Given the description of an element on the screen output the (x, y) to click on. 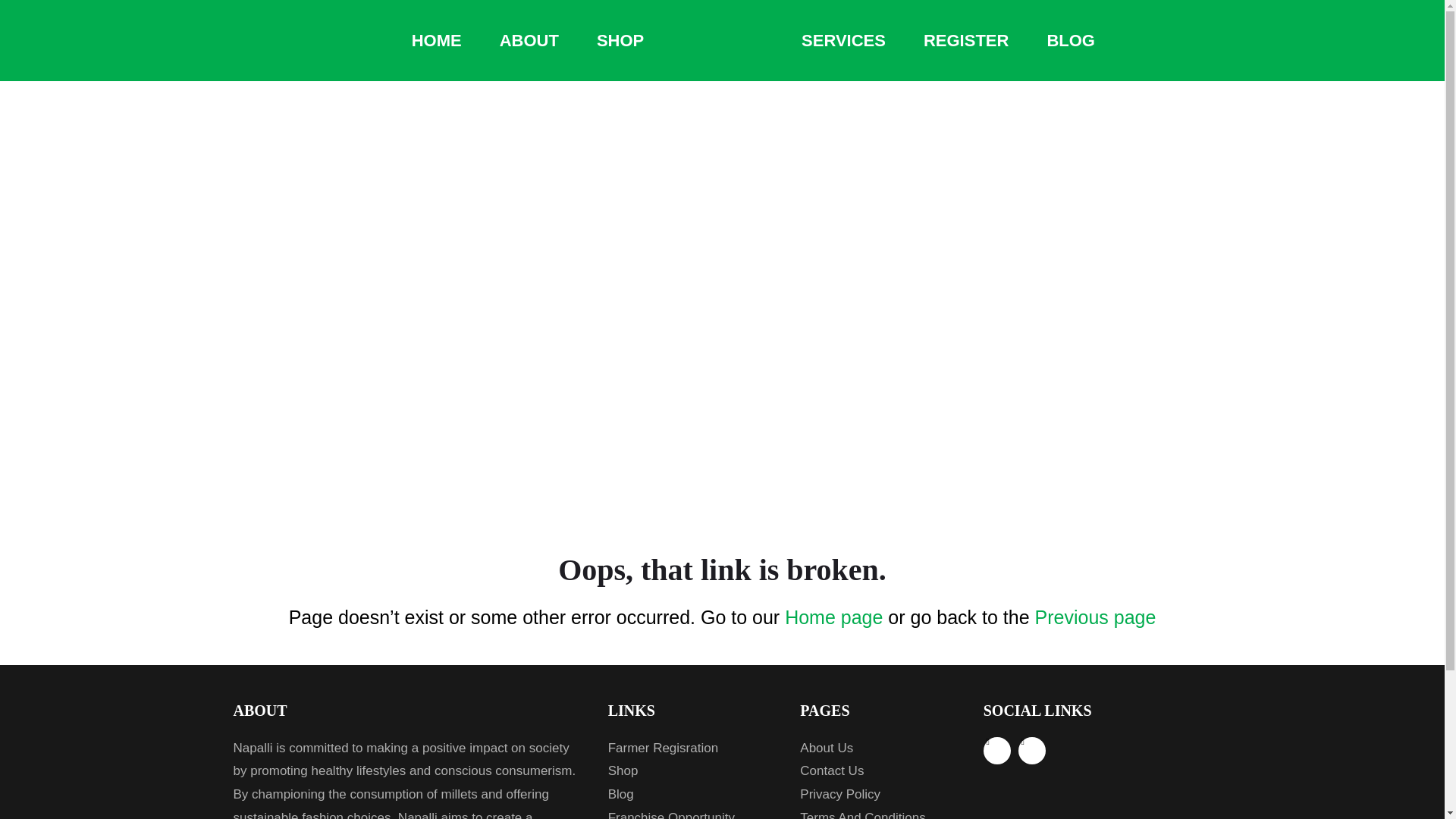
SHOP (619, 40)
SERVICES (843, 40)
REGISTER (966, 40)
Home page (833, 617)
Previous page (1095, 617)
About Us (879, 748)
Contact Us (879, 771)
Shop (692, 771)
HOME (436, 40)
Terms And Conditions (879, 812)
